Given the description of an element on the screen output the (x, y) to click on. 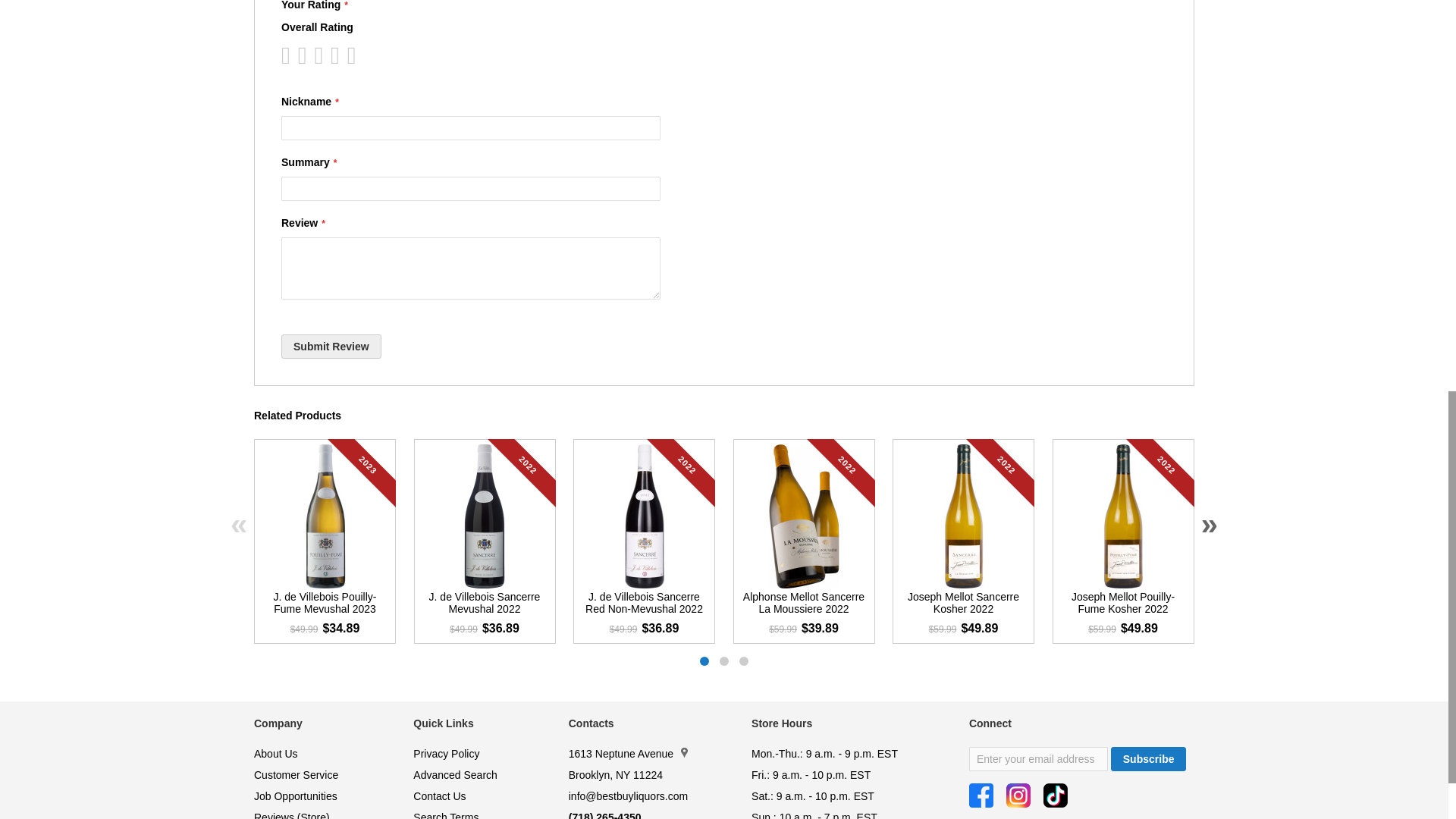
J. de Villebois Pouilly-Fume Mevushal 2023 (324, 605)
5 stars (321, 55)
4 stars (314, 55)
2 stars (297, 55)
J. de Villebois Sancerre Mevushal 2022 (484, 605)
J. de Villebois Sancerre Red Non-Mevushal 2022 (643, 605)
3 stars (305, 55)
